Given the description of an element on the screen output the (x, y) to click on. 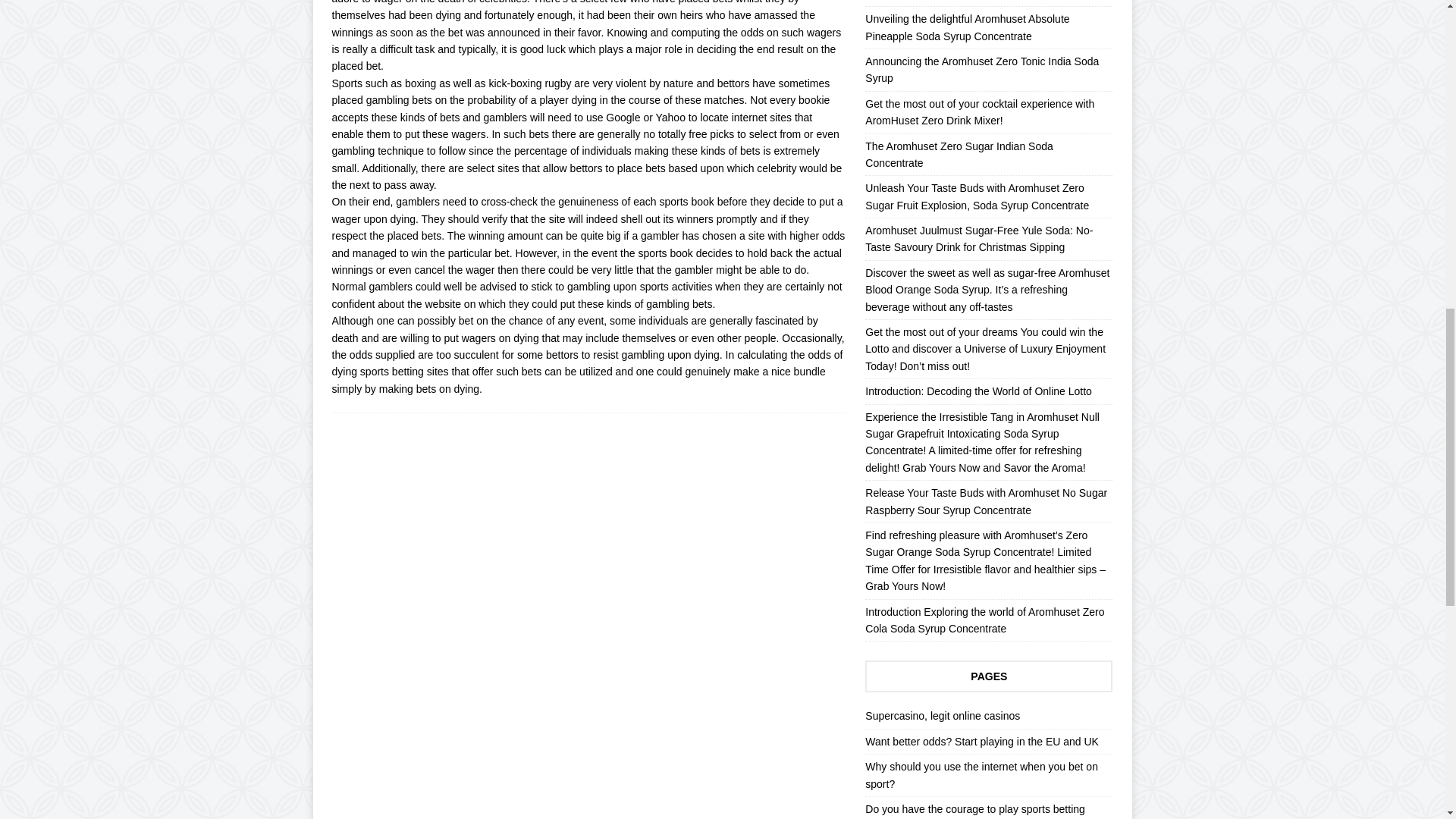
Announcing the Aromhuset Zero Tonic India Soda Syrup (981, 69)
The Aromhuset Zero Sugar Indian Soda Concentrate (958, 154)
